Given the description of an element on the screen output the (x, y) to click on. 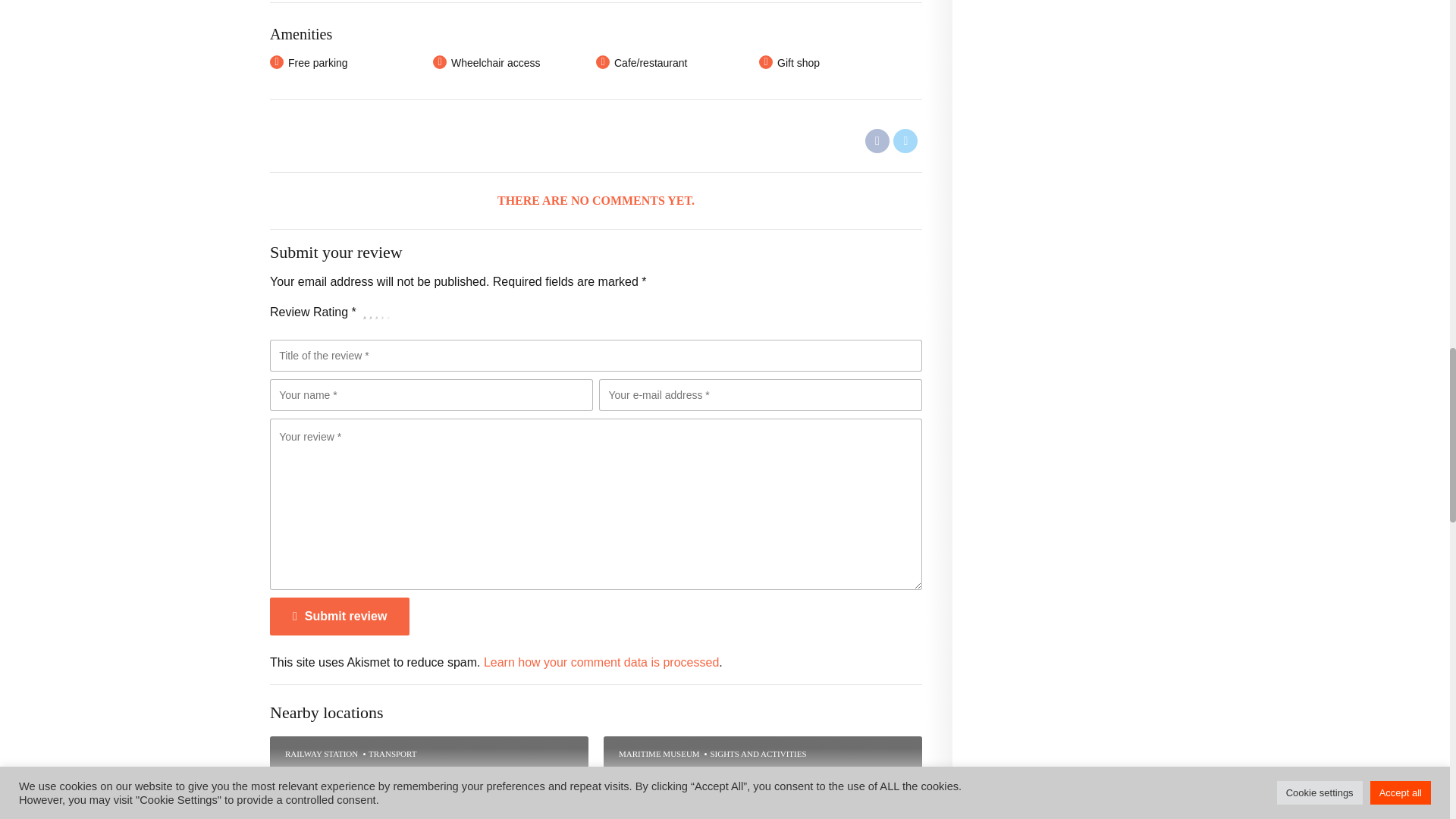
Share on Facebook (876, 140)
Share on Twitter (905, 140)
